Given the description of an element on the screen output the (x, y) to click on. 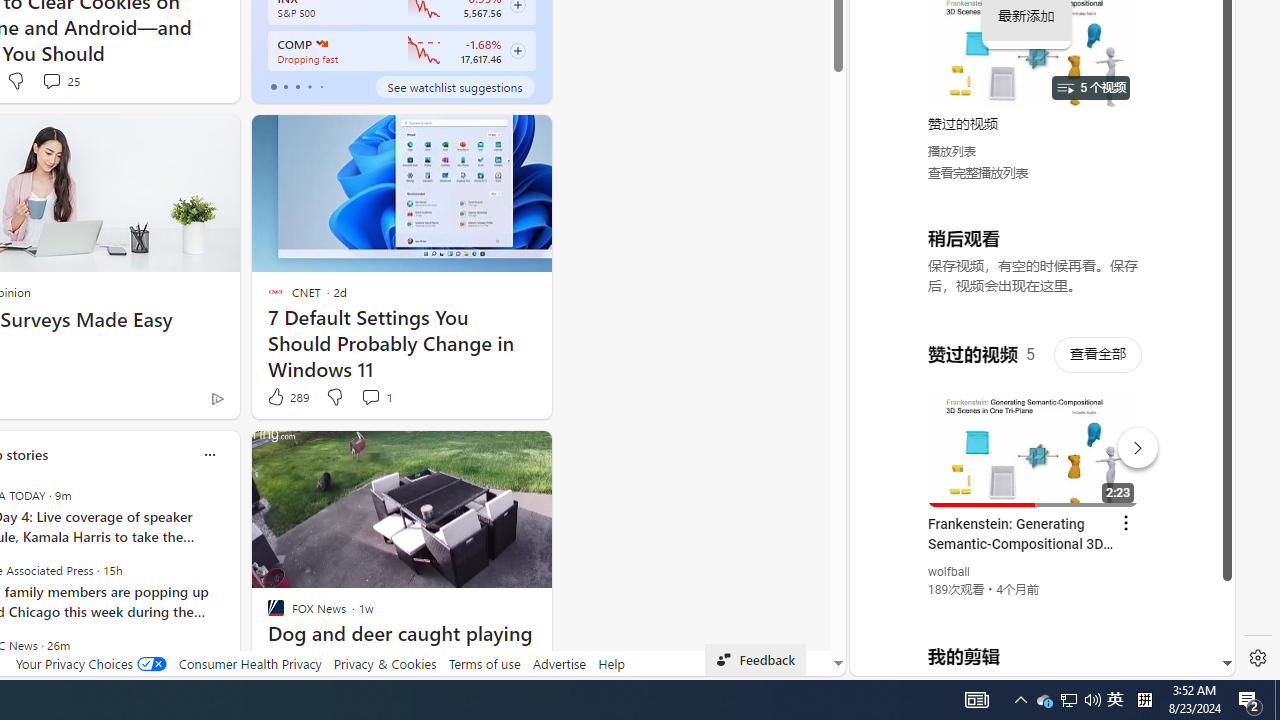
View comments 25 Comment (50, 80)
View comments 1 Comment (370, 396)
NASDAQ (320, 43)
YouTube - YouTube (1034, 266)
next (229, 583)
Privacy & Cookies (384, 663)
